Given the description of an element on the screen output the (x, y) to click on. 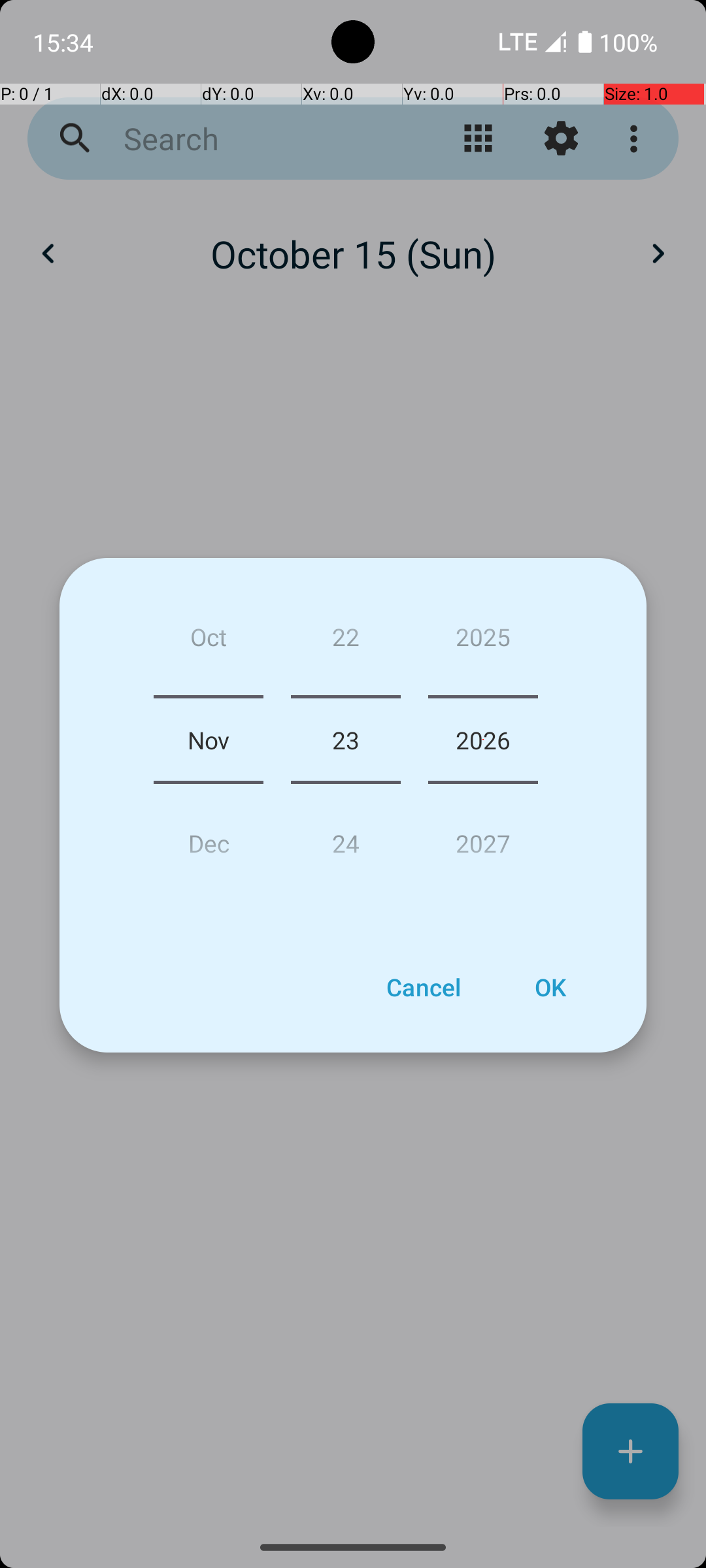
Dec Element type: android.widget.Button (208, 837)
2027 Element type: android.widget.Button (482, 837)
